Given the description of an element on the screen output the (x, y) to click on. 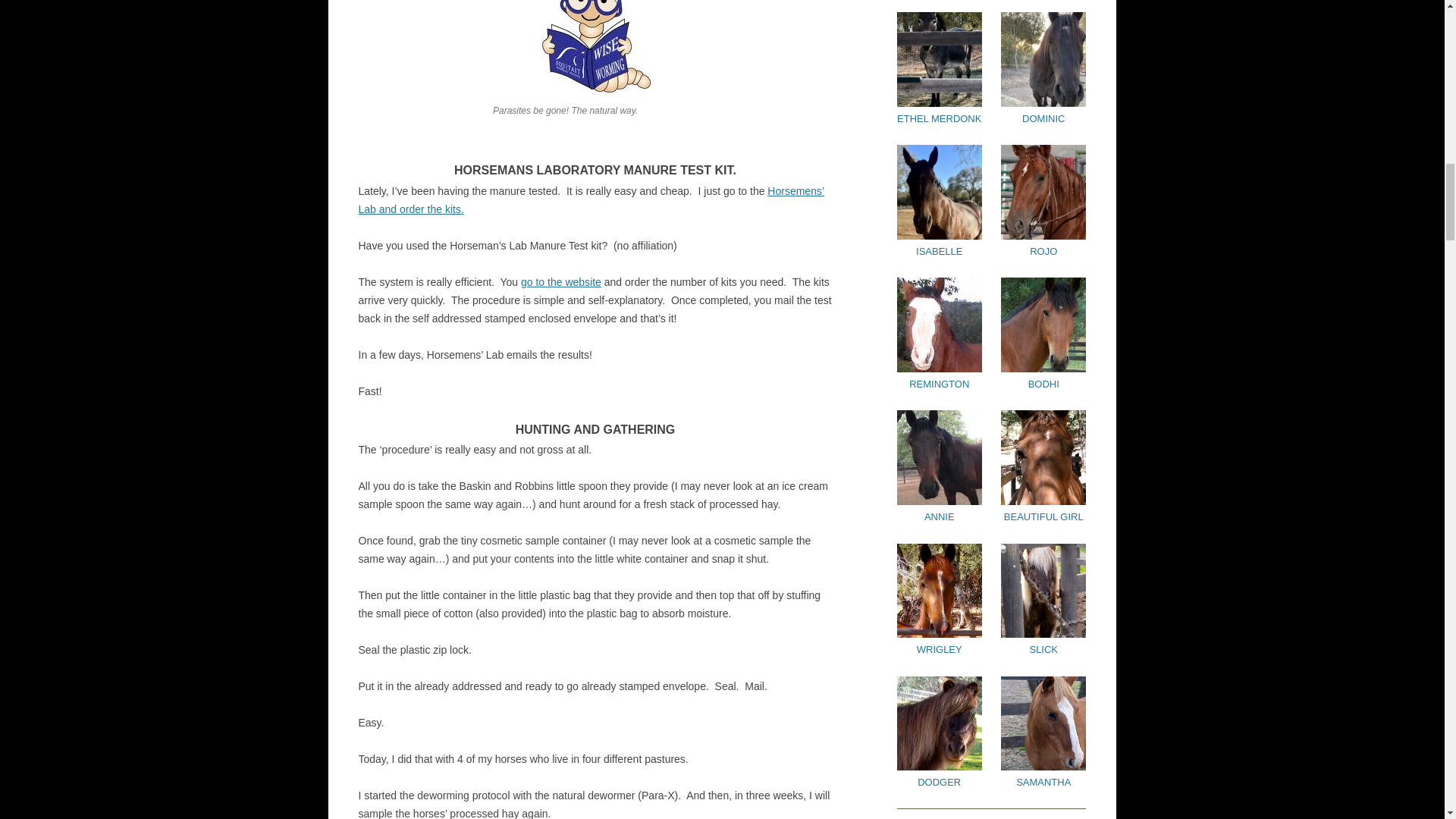
go to the website (561, 282)
